Given the description of an element on the screen output the (x, y) to click on. 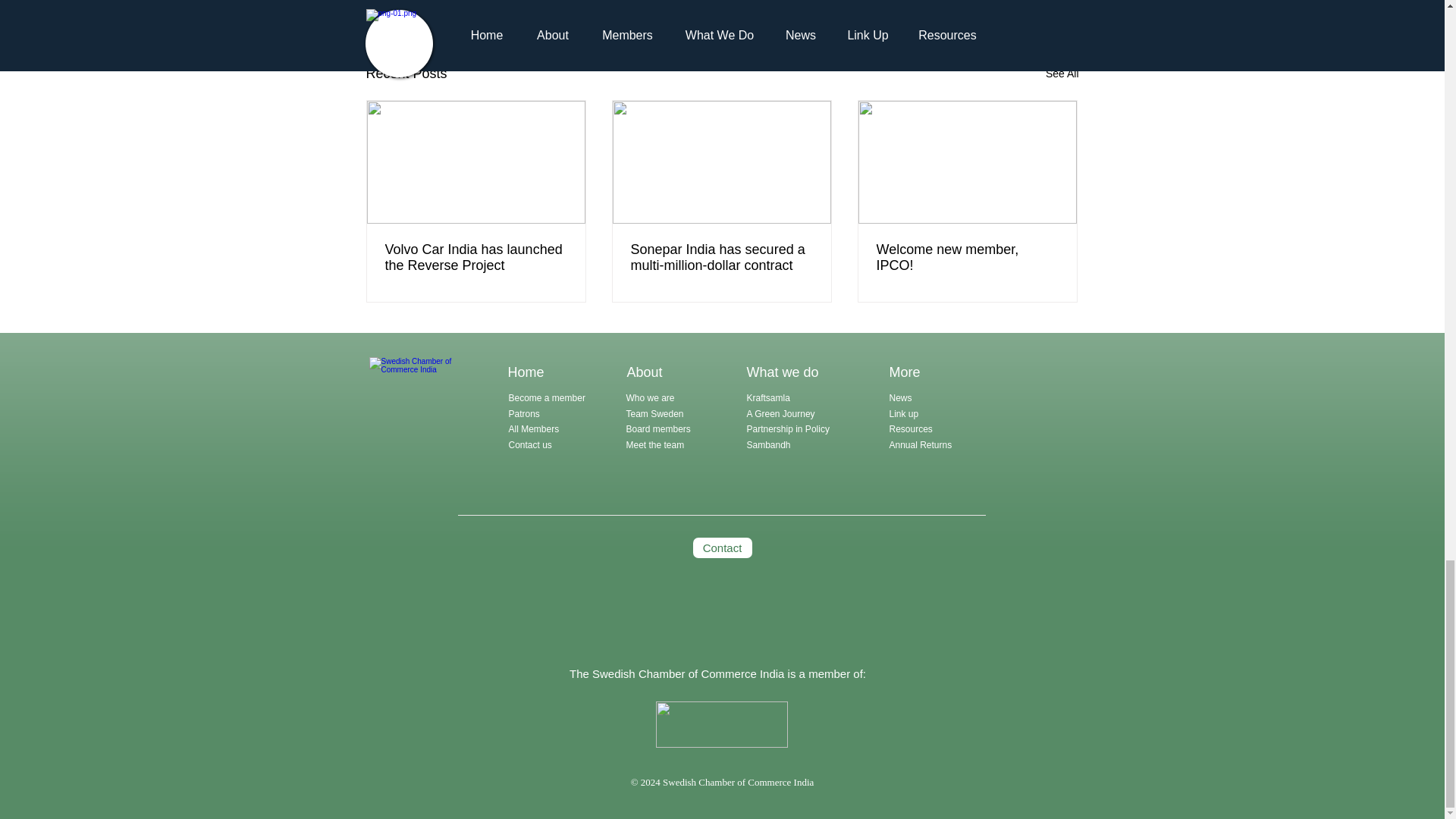
Who we are (650, 398)
Team Sweden (655, 413)
Welcome new member, IPCO! (967, 257)
Patrons (523, 413)
About (644, 372)
All Members  (534, 429)
Become a member (546, 398)
Home (526, 372)
Volvo Car India has launched the Reverse Project (476, 257)
See All (1061, 74)
Contact us (529, 444)
A Green Journey  (780, 413)
Board members (658, 429)
Meet the team (655, 444)
Partnership in Policy (786, 429)
